Given the description of an element on the screen output the (x, y) to click on. 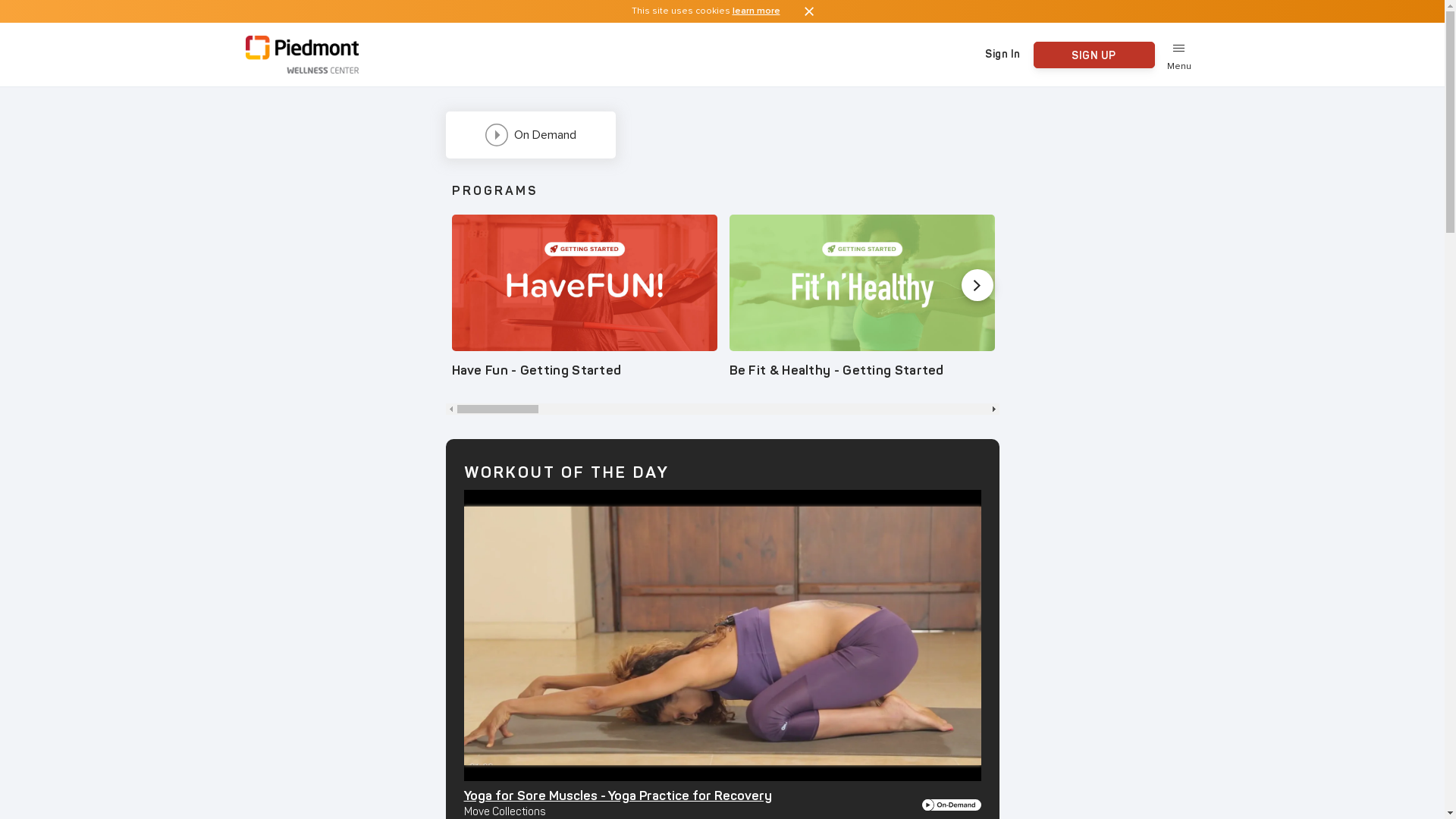
Sign In Element type: text (1002, 53)
SIGN UP Element type: text (1093, 53)
learn more Element type: text (756, 10)
Yoga for Sore Muscles - Yoga Practice for Recovery Element type: text (617, 796)
On Demand Element type: text (530, 134)
